Given the description of an element on the screen output the (x, y) to click on. 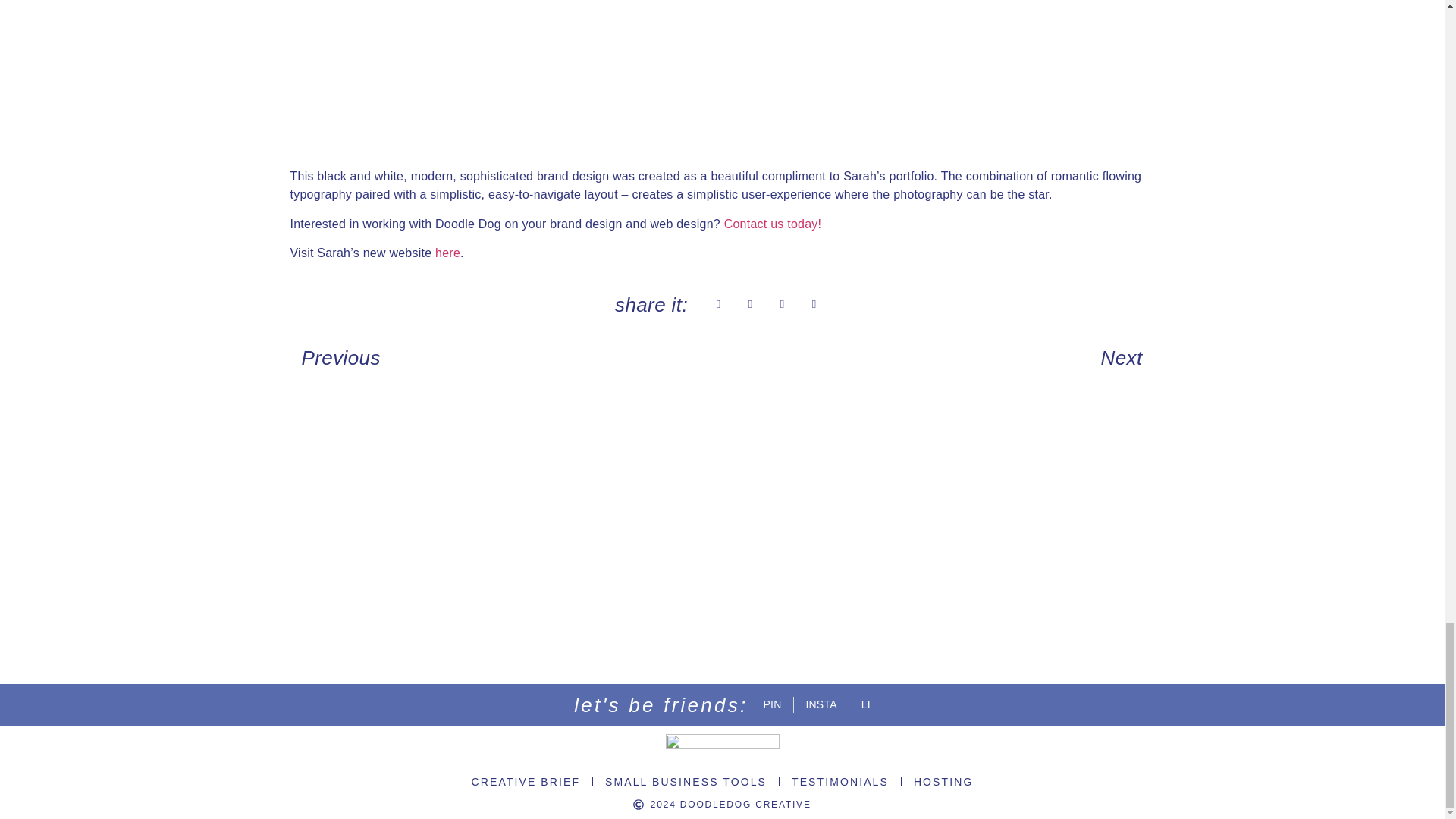
HOSTING (943, 781)
Previous (505, 358)
CREATIVE BRIEF (525, 781)
SMALL BUSINESS TOOLS (686, 781)
Next (938, 358)
PIN (771, 704)
here (447, 252)
TESTIMONIALS (840, 781)
Contact us today! (772, 223)
INSTA (820, 704)
